Given the description of an element on the screen output the (x, y) to click on. 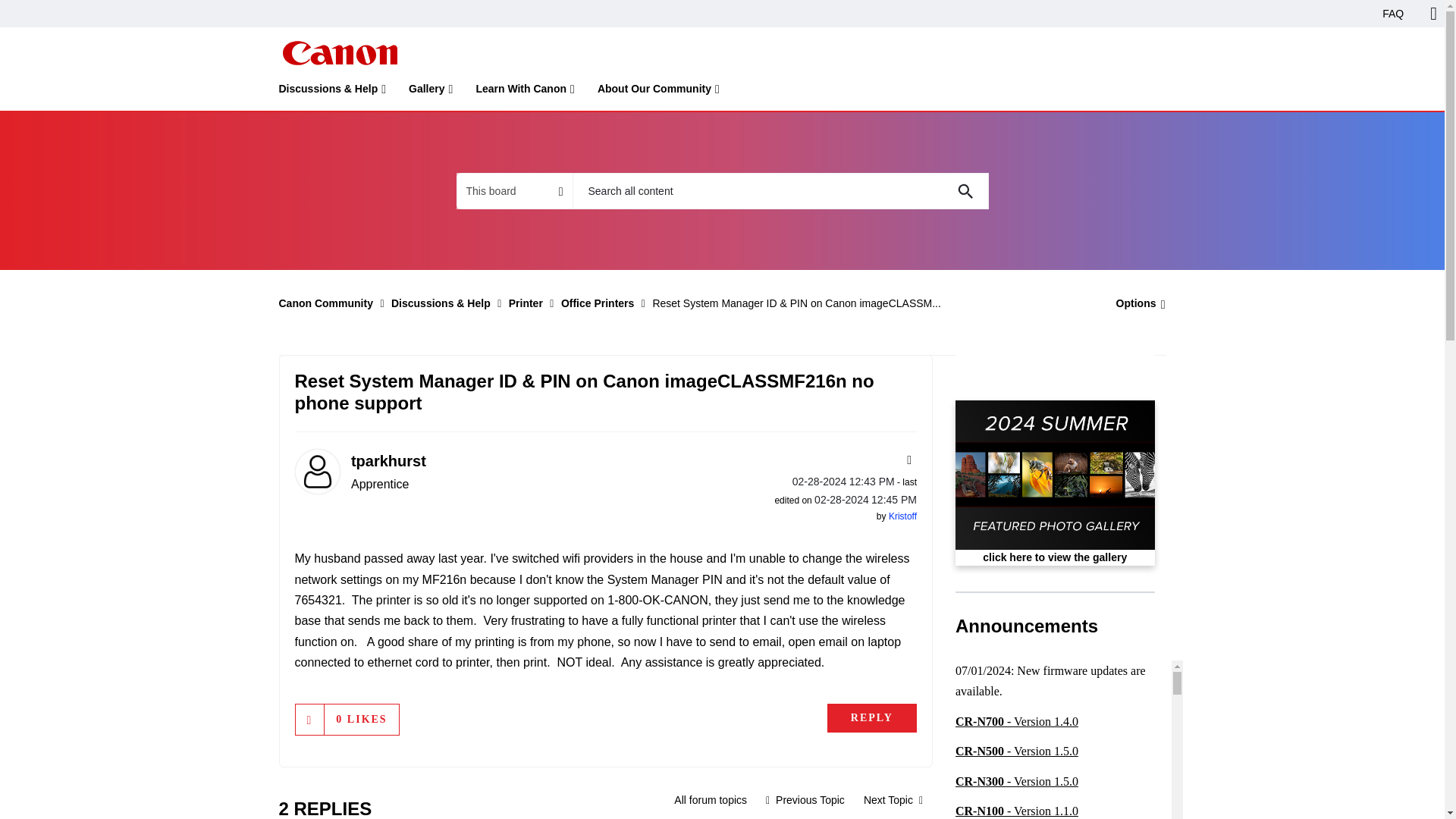
Click here to give likes to this post. (309, 719)
imageCLASS MF262dw II Stuck on Loading screen (804, 799)
Show option menu (1136, 303)
Office Printers (710, 799)
The total number of likes this post has received. (360, 718)
tparkhurst (316, 471)
Search Granularity (514, 190)
Search (964, 190)
Learn With Canon (525, 91)
Search (964, 190)
About Our Community (657, 91)
Search (964, 190)
Search (780, 190)
Gallery (430, 91)
Canon Community (339, 53)
